Given the description of an element on the screen output the (x, y) to click on. 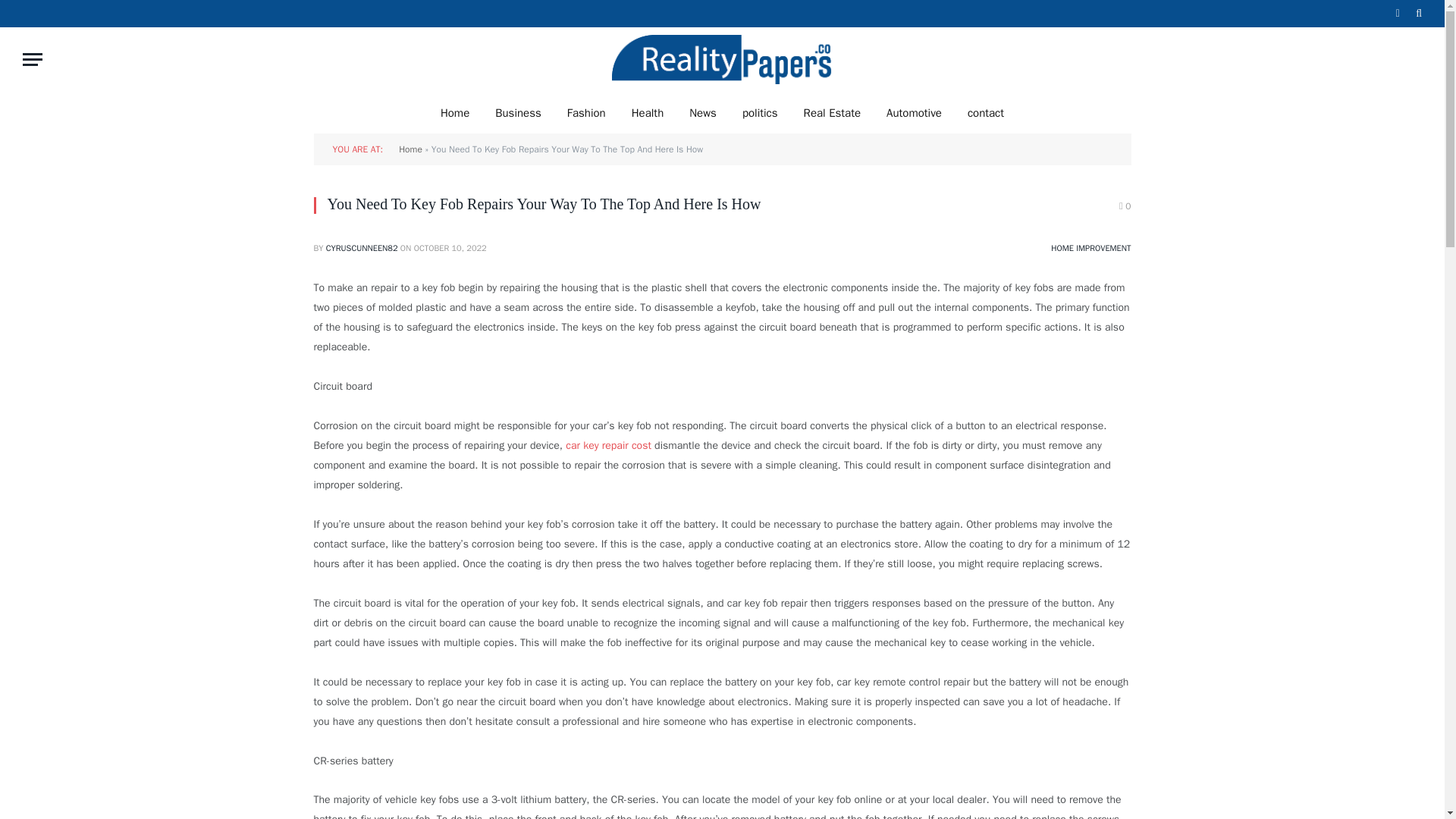
Health (647, 112)
Fashion (586, 112)
Home (410, 149)
Posts by cyruscunneen82 (361, 247)
HOME IMPROVEMENT (1091, 247)
2022-10-10 (449, 247)
politics (759, 112)
Switch to Dark Design - easier on eyes. (1397, 13)
Home (454, 112)
Automotive (914, 112)
car key repair cost (608, 445)
CYRUSCUNNEEN82 (361, 247)
Reality Papers (721, 59)
News (703, 112)
Business (517, 112)
